Given the description of an element on the screen output the (x, y) to click on. 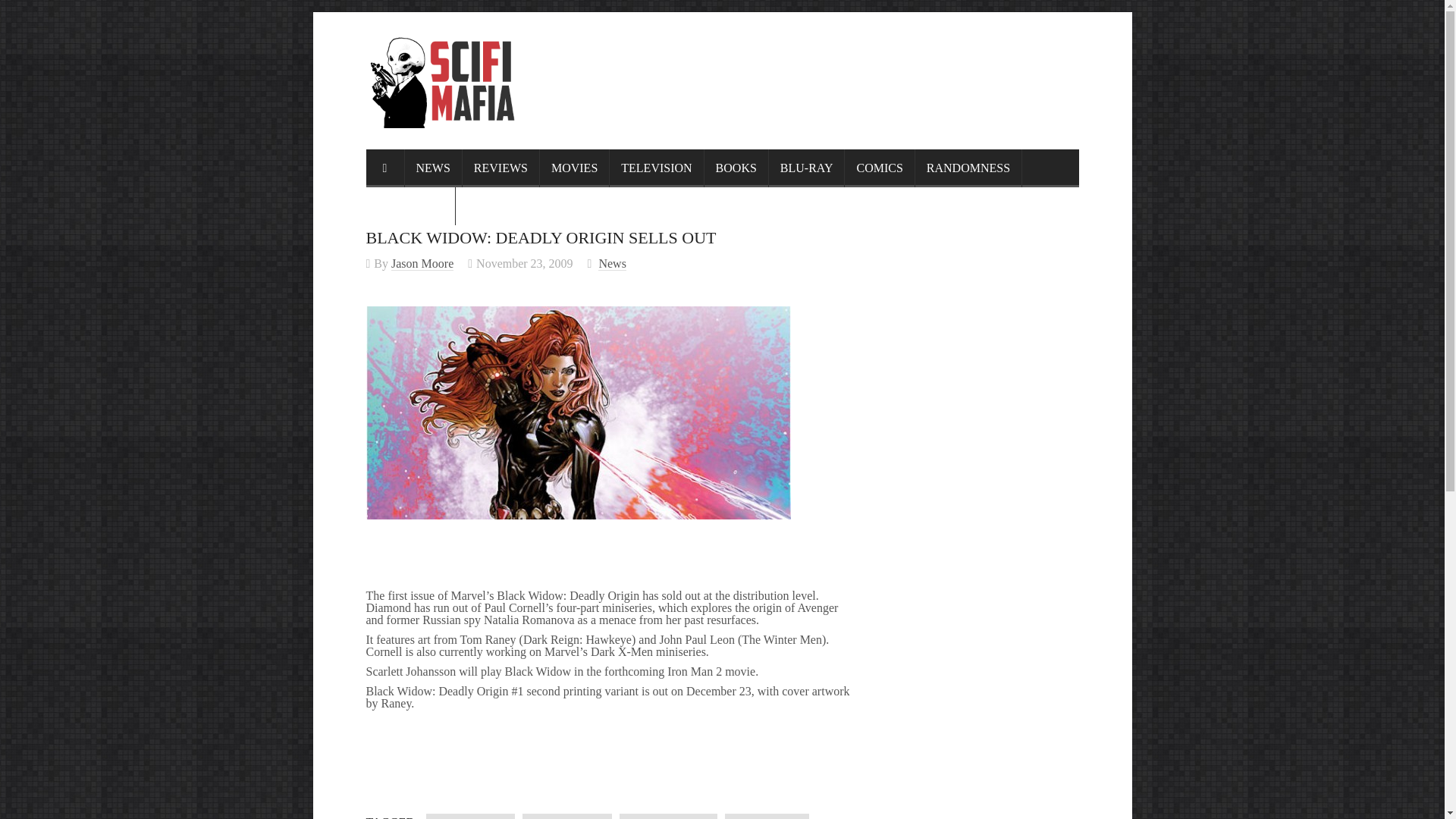
Posts by Jason Moore (421, 264)
Marvel Comics (668, 816)
MOVIES (575, 168)
Advertisement (542, 782)
BOOKS (736, 168)
Black Widow (470, 816)
News (612, 264)
NEWS (433, 168)
Advertisement (801, 69)
REVIEWS (501, 168)
Comic Books (566, 816)
Advertisement (608, 739)
COMICS (879, 168)
widowdeadlyoriginwide (577, 412)
TELEVISION (656, 168)
